Given the description of an element on the screen output the (x, y) to click on. 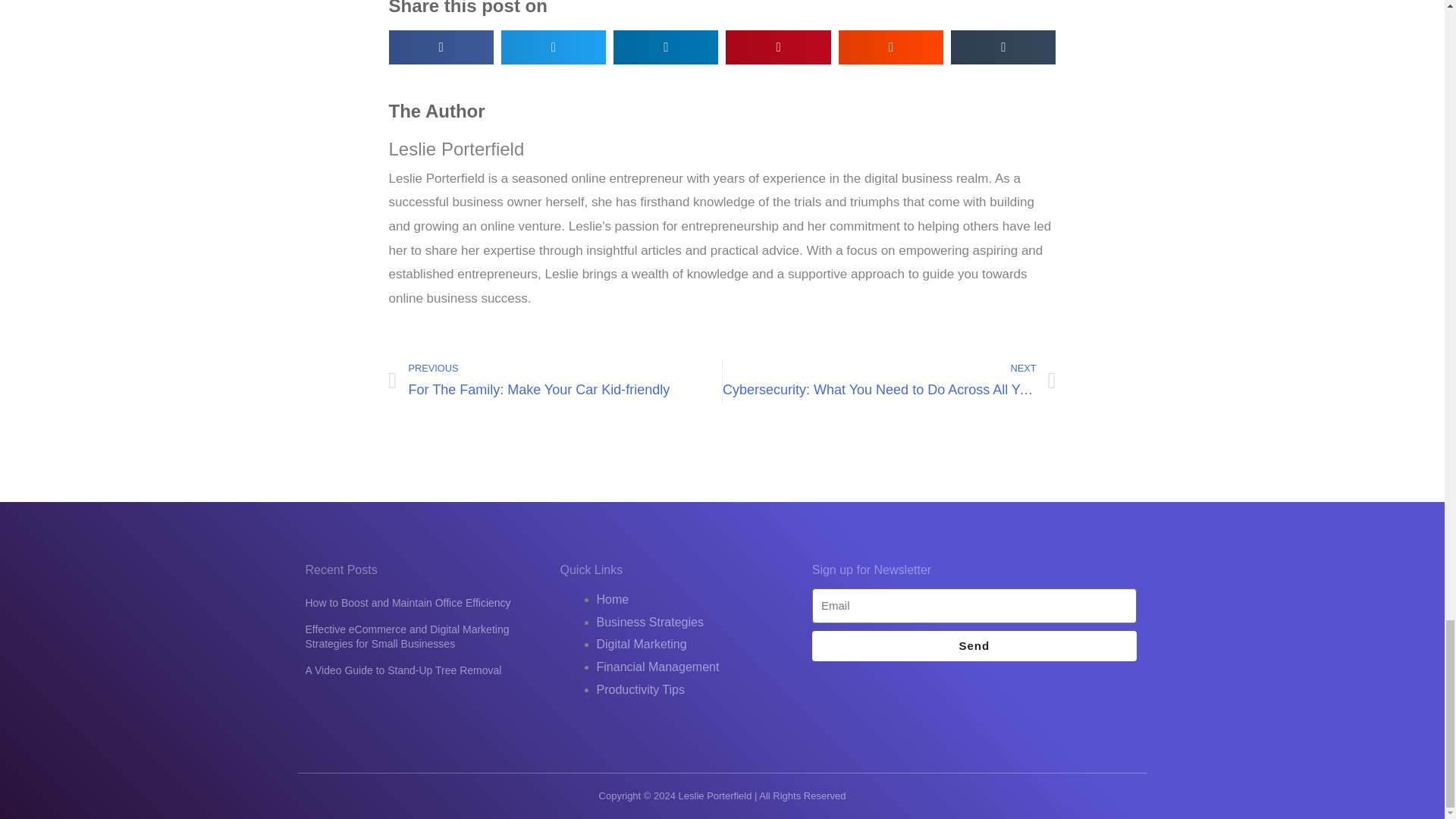
Productivity Tips (639, 689)
A Video Guide to Stand-Up Tree Removal (402, 670)
Digital Marketing (640, 644)
Business Strategies (649, 621)
How to Boost and Maintain Office Efficiency (407, 603)
Send (555, 380)
Home (974, 645)
